Given the description of an element on the screen output the (x, y) to click on. 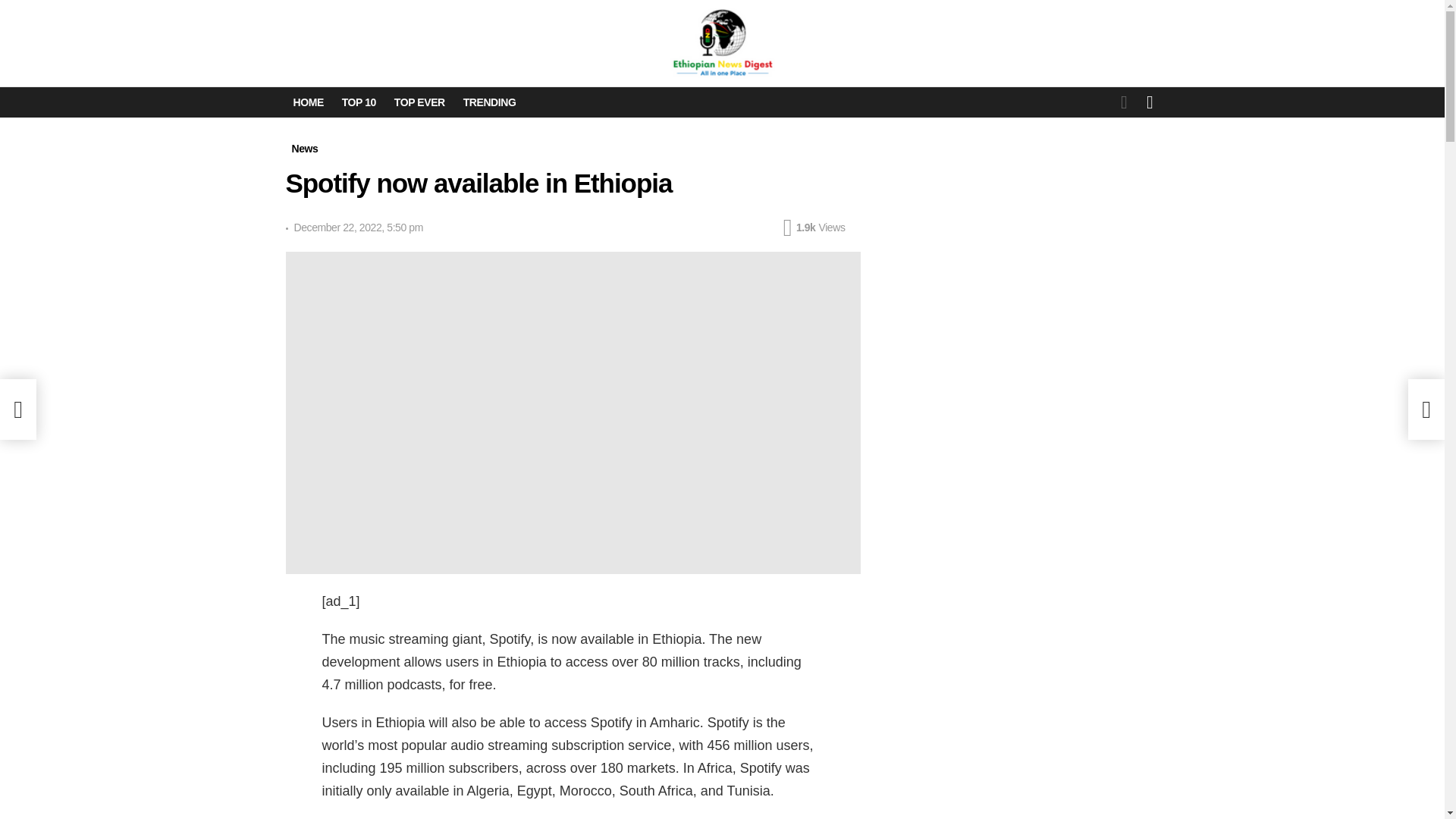
HOME (307, 101)
TRENDING (489, 101)
TOP 10 (359, 101)
News (304, 148)
TOP EVER (419, 101)
